Given the description of an element on the screen output the (x, y) to click on. 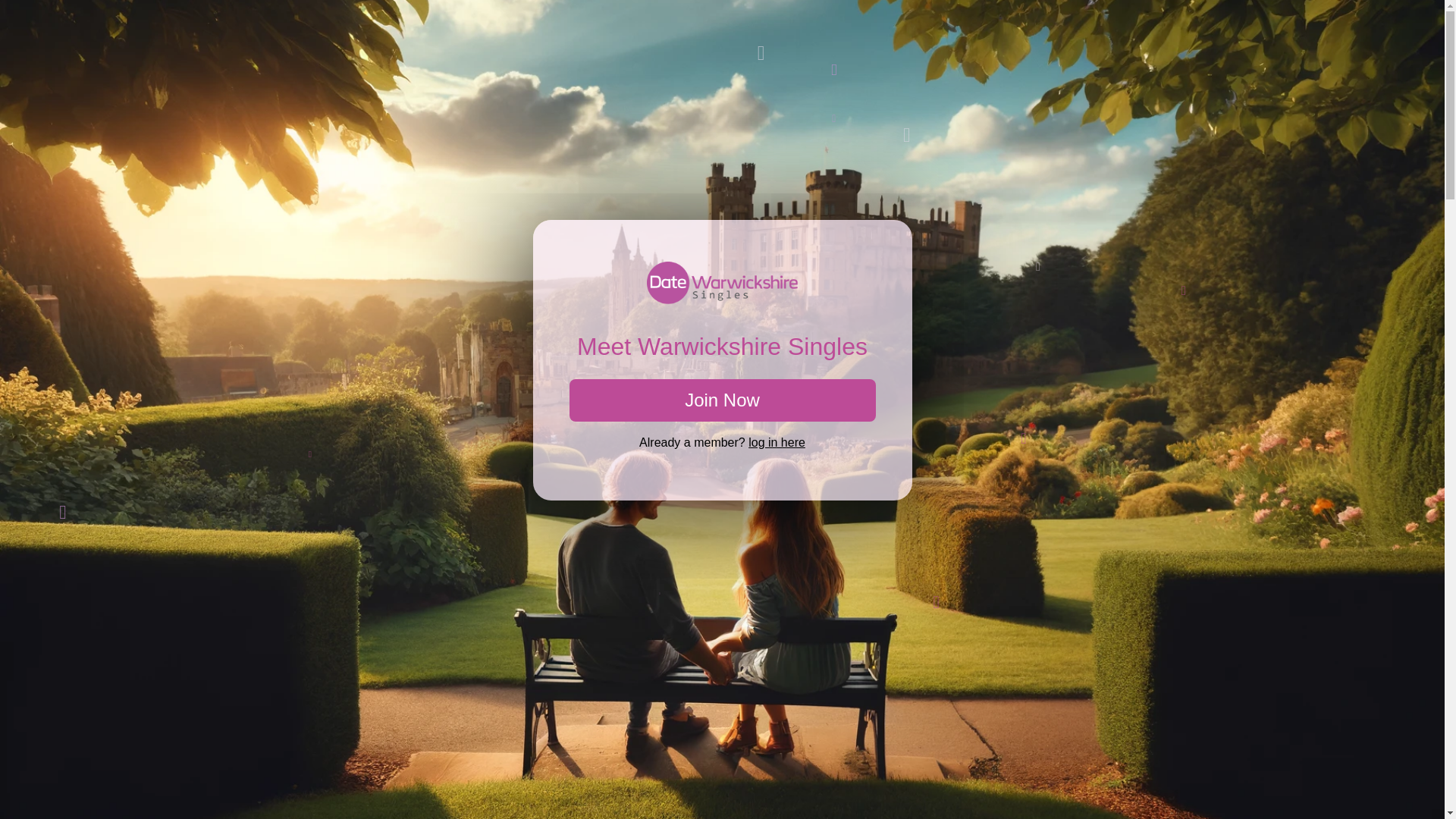
Join Now (722, 400)
log in here (776, 441)
